Given the description of an element on the screen output the (x, y) to click on. 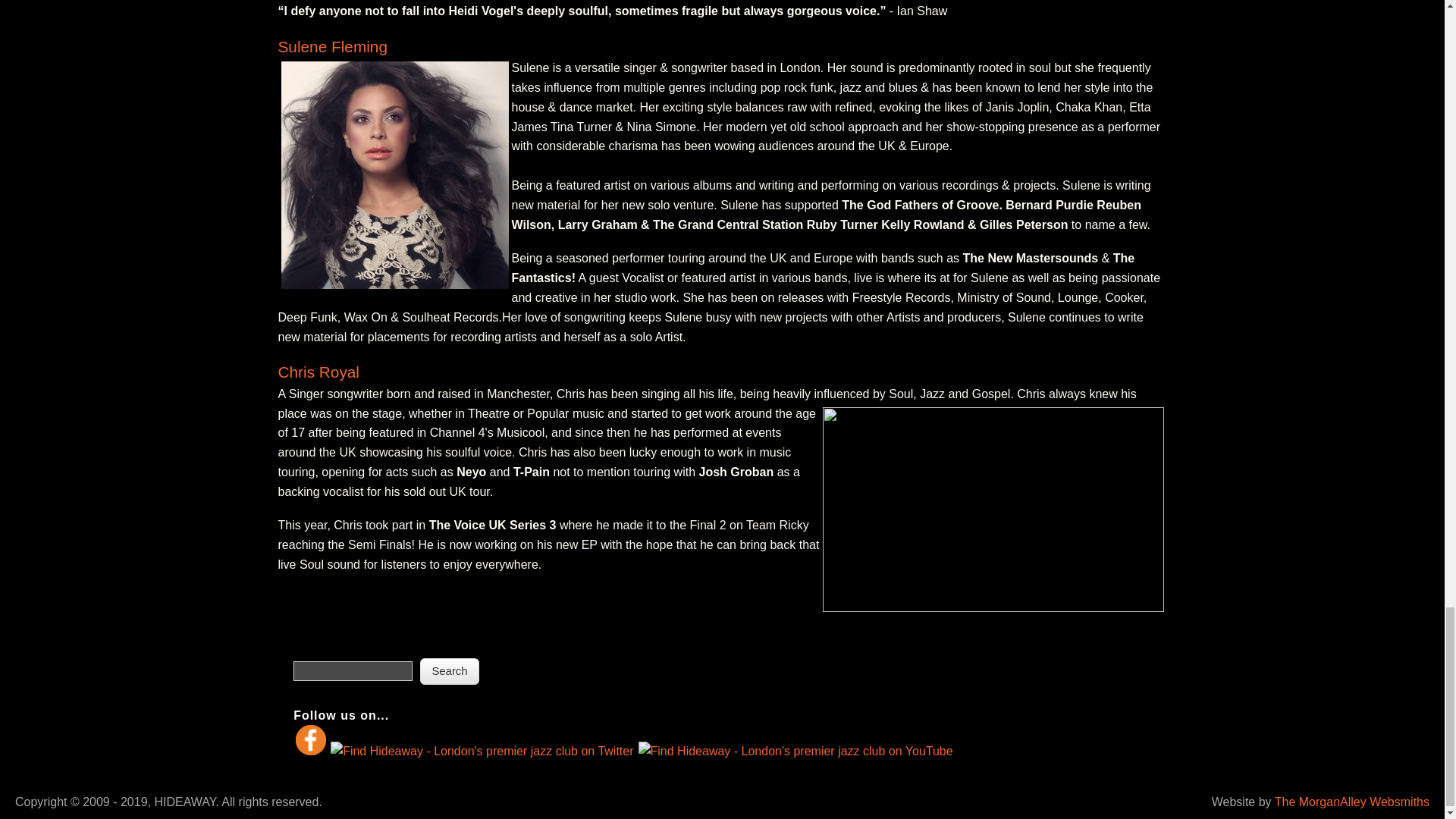
Find Hideaway - London's premier jazz club on Twitter (481, 751)
Search (450, 671)
Search (450, 671)
Find Hideaway - London's premier jazz club on Twitter (481, 750)
Find Hideaway - London's premier jazz club on Facebook (311, 750)
Find Hideaway - London's premier jazz club on Facebook (311, 739)
The MorganAlley Websmiths (1352, 801)
Find Hideaway - London's premier jazz club on YouTube (795, 750)
Find Hideaway - London's premier jazz club on YouTube (795, 751)
Enter the terms you wish to search for. (353, 670)
